Given the description of an element on the screen output the (x, y) to click on. 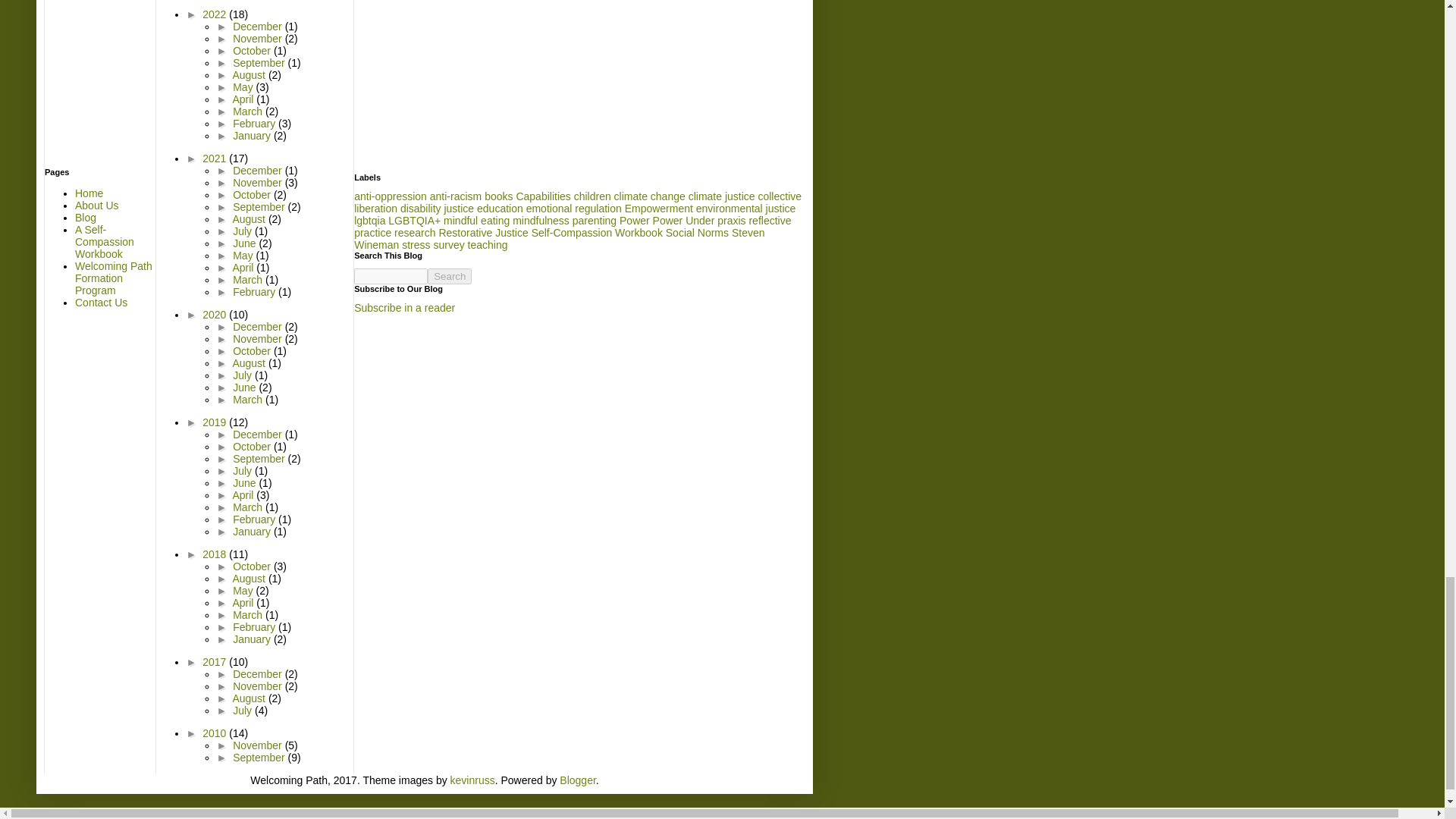
search (449, 276)
Home (89, 193)
Contact Us (101, 302)
Welcoming Path Formation Program (113, 278)
Blog (85, 217)
A Self-Compassion Workbook (104, 241)
About Us (97, 205)
Search (449, 276)
Search (449, 276)
Subscribe to my feed (403, 307)
